Given the description of an element on the screen output the (x, y) to click on. 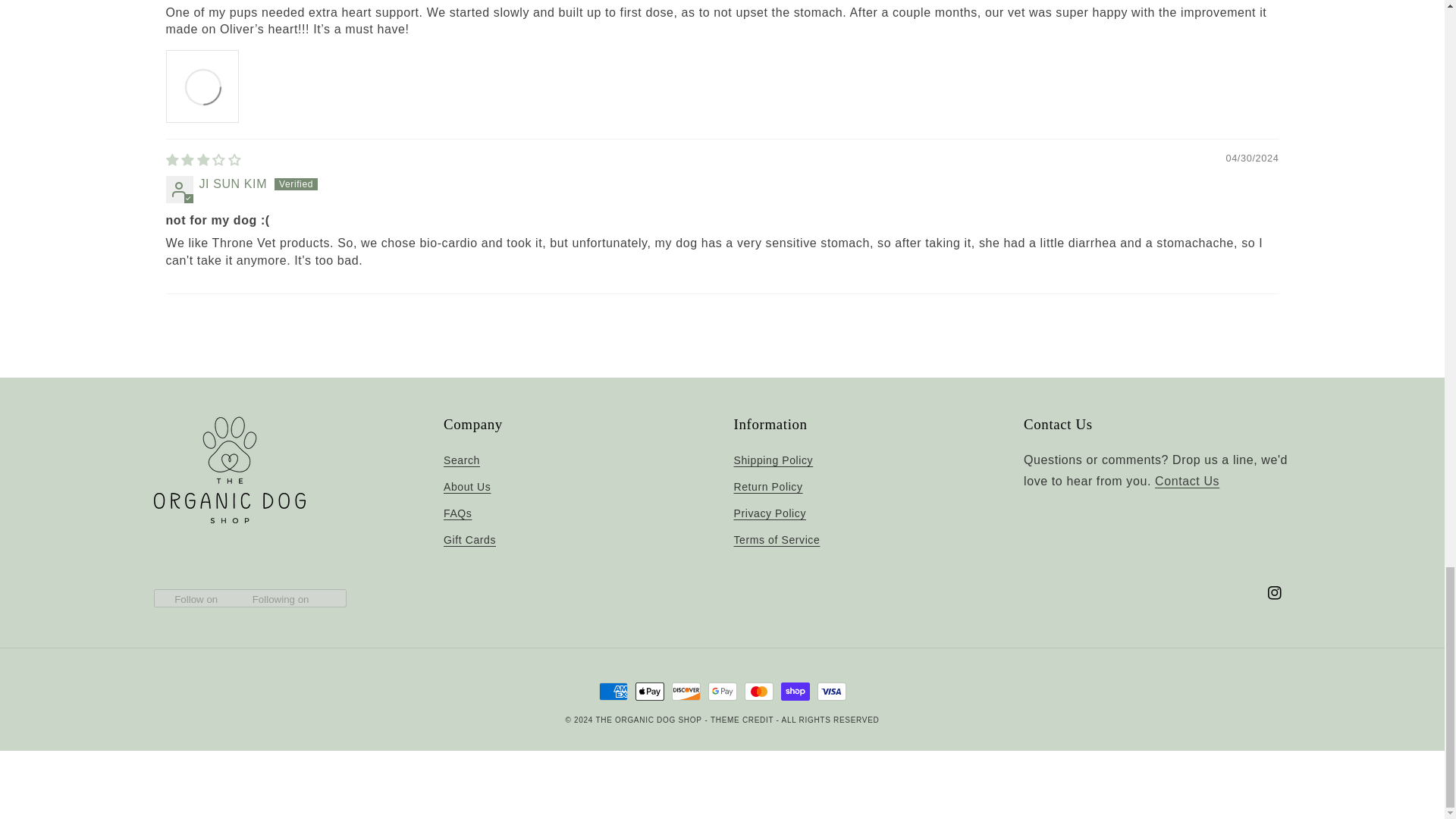
Contact (1187, 481)
